Given the description of an element on the screen output the (x, y) to click on. 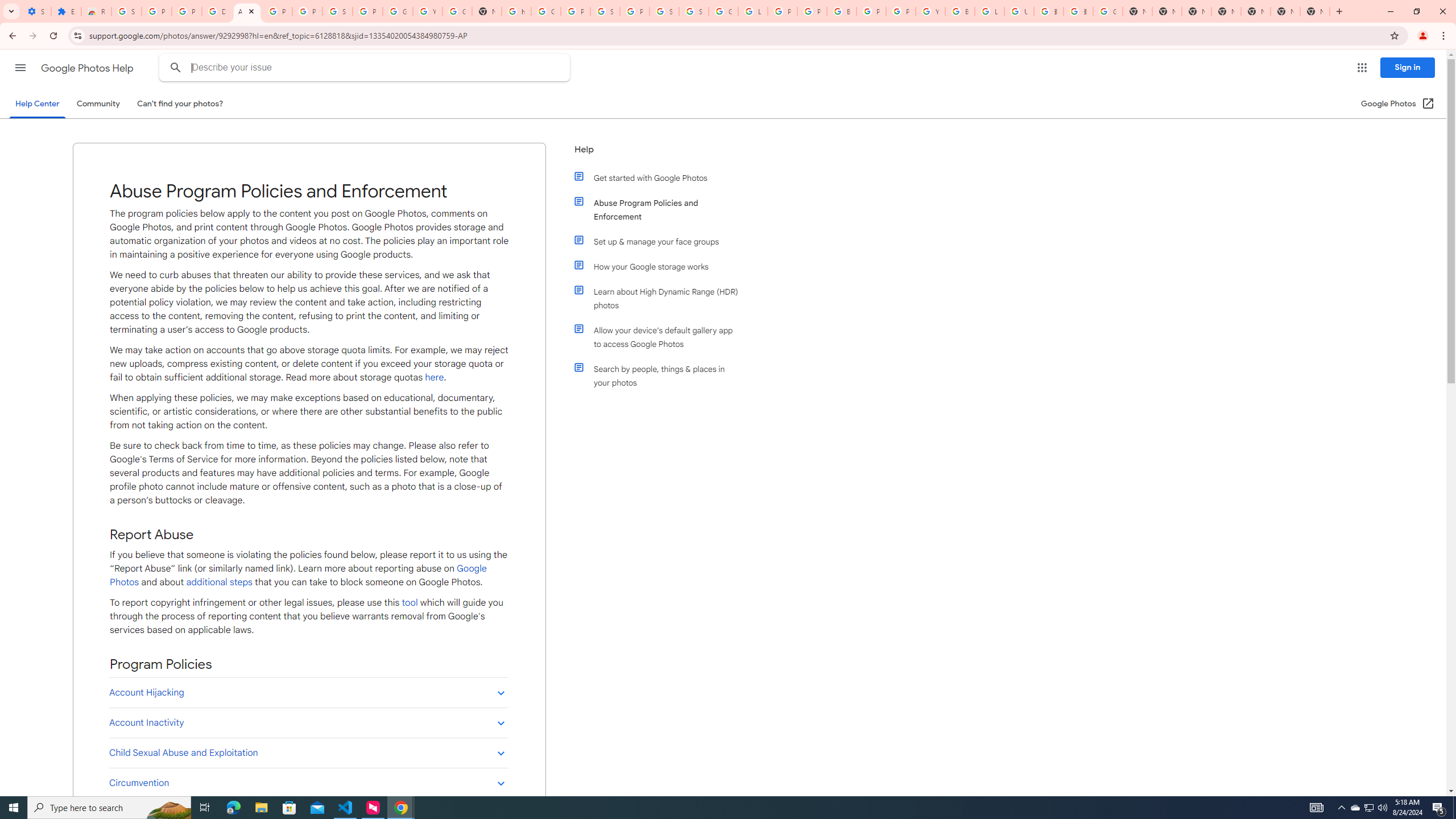
Sign in - Google Accounts (126, 11)
Account Hijacking (308, 692)
Describe your issue (366, 67)
New Tab (1314, 11)
